Given the description of an element on the screen output the (x, y) to click on. 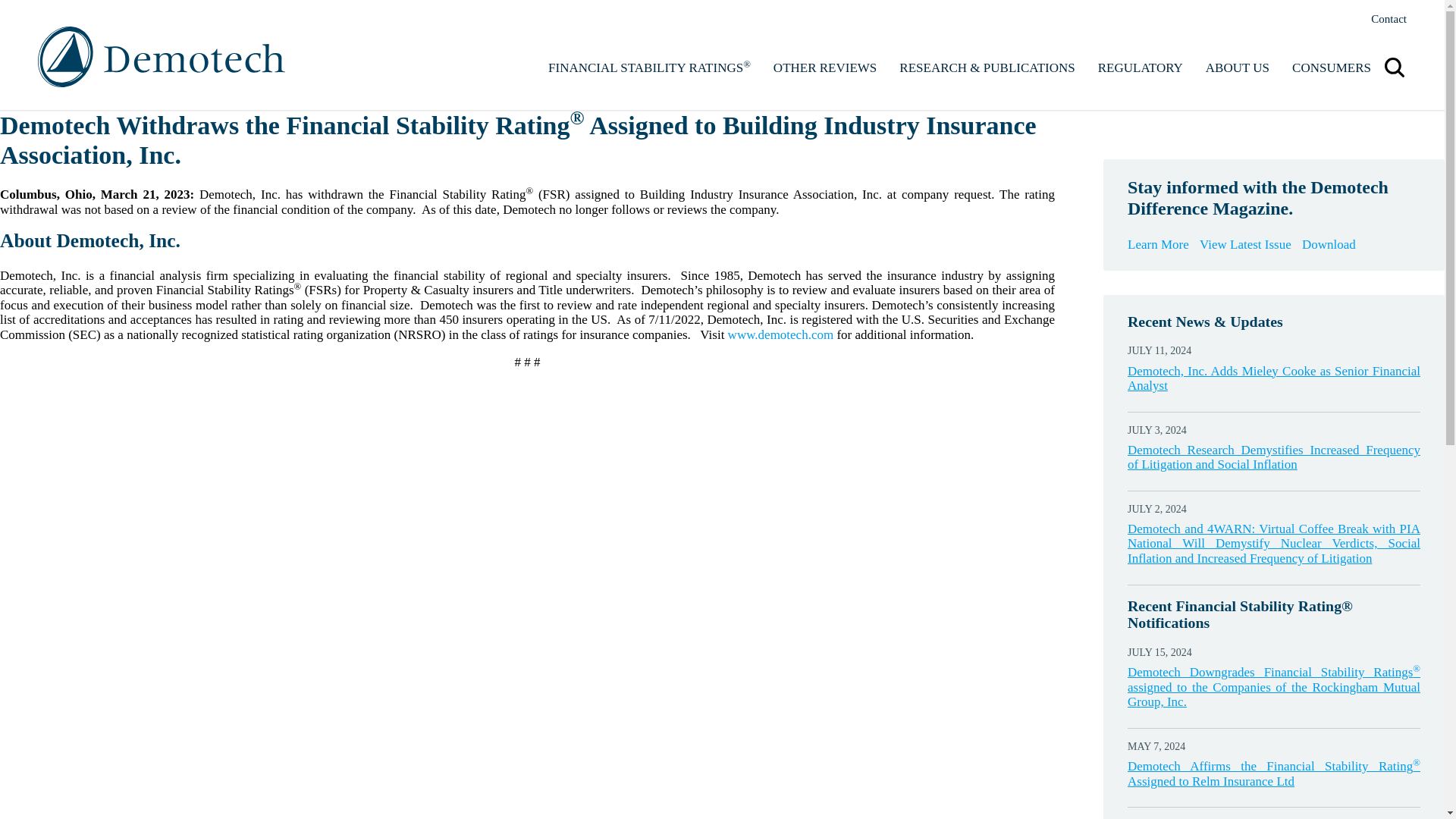
Contact (1388, 19)
Demotech, Inc. Adds Mieley Cooke as Senior Financial Analyst (1273, 378)
REGULATORY (1139, 67)
Search (1393, 67)
Download (1328, 244)
Demotech (161, 56)
CONSUMERS (1331, 67)
View Latest Issue (1245, 244)
Search (1356, 40)
OTHER REVIEWS (824, 67)
www.demotech.com (781, 334)
Learn More (1157, 244)
